Given the description of an element on the screen output the (x, y) to click on. 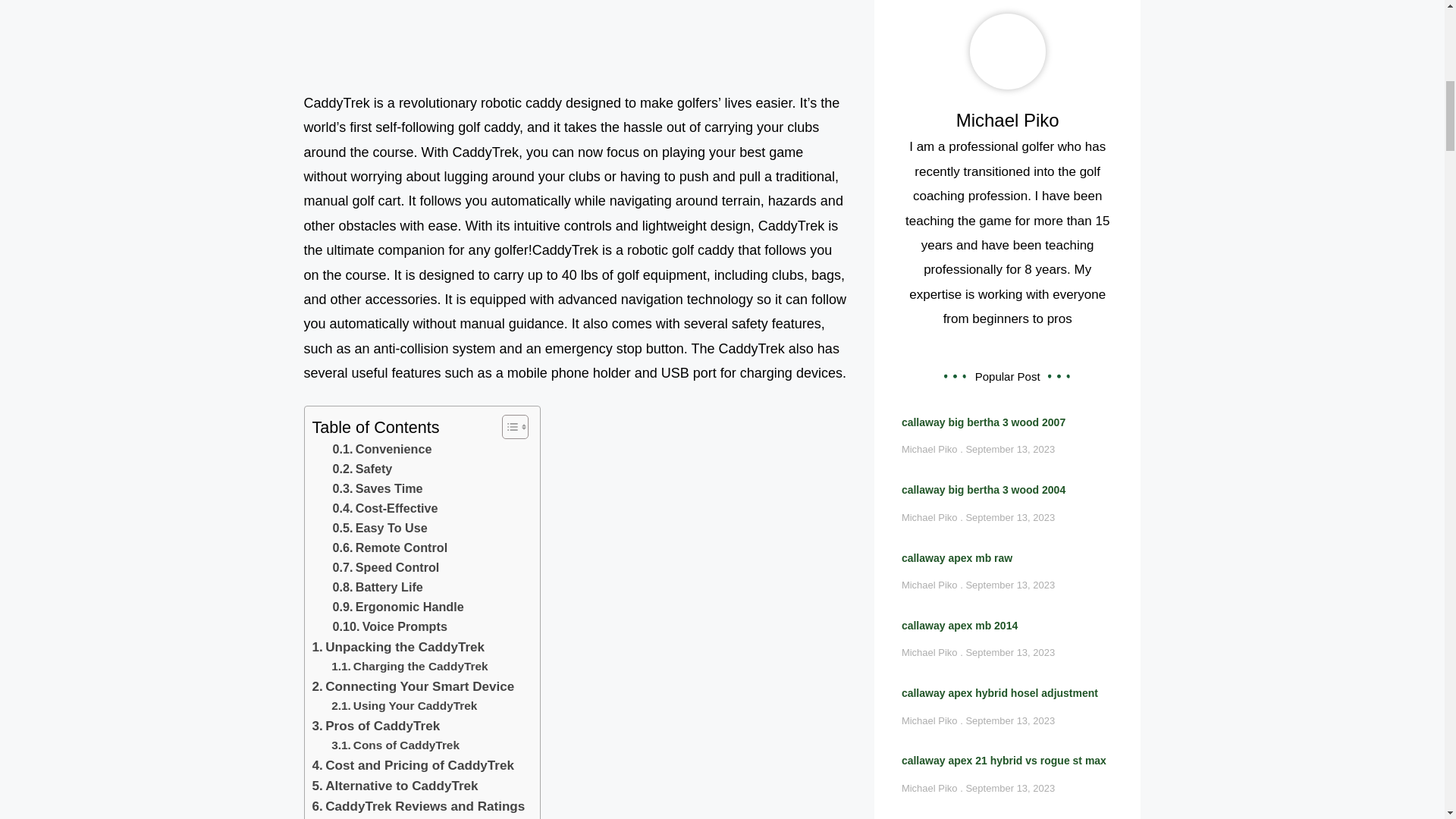
Voice Prompts (388, 627)
Unpacking the CaddyTrek (398, 647)
Charging the CaddyTrek (409, 666)
Voice Prompts  (388, 627)
Cost-Effective (384, 508)
Remote Control (388, 547)
Easy To Use (378, 528)
Battery Life (376, 587)
Ergonomic Handle  (397, 607)
Remote Control (388, 547)
